Given the description of an element on the screen output the (x, y) to click on. 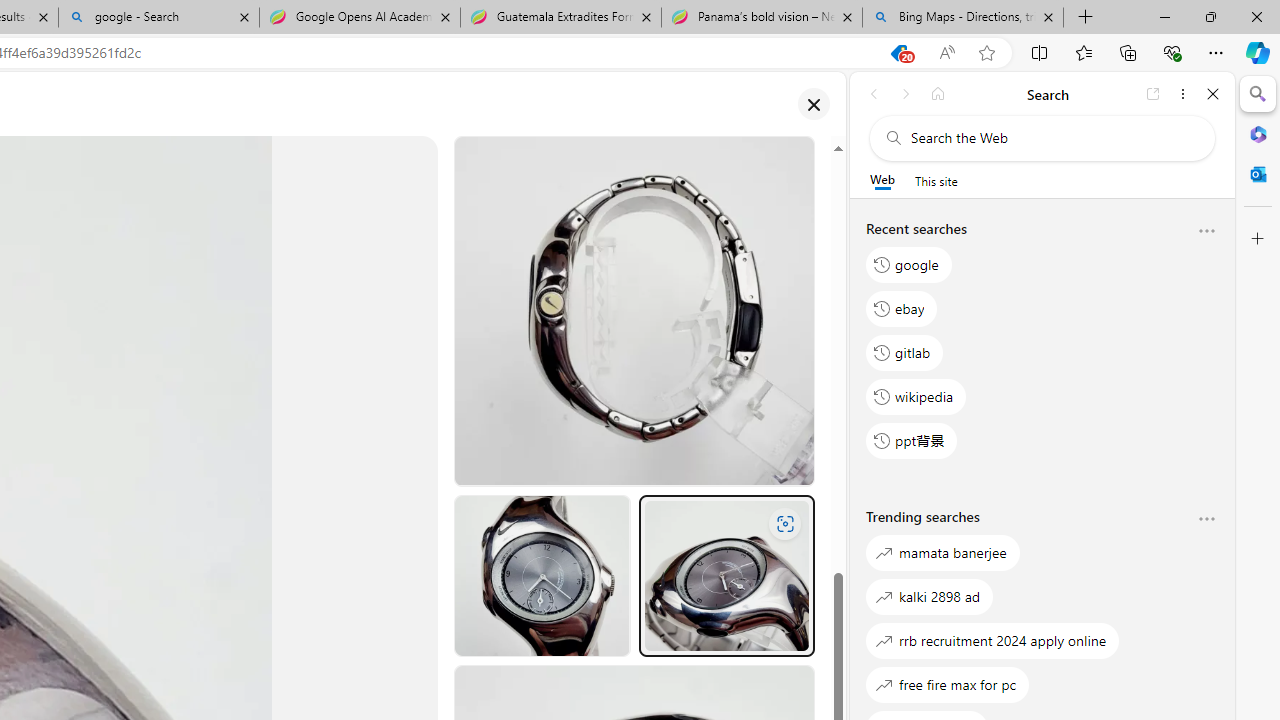
free fire max for pc (947, 684)
